Given the description of an element on the screen output the (x, y) to click on. 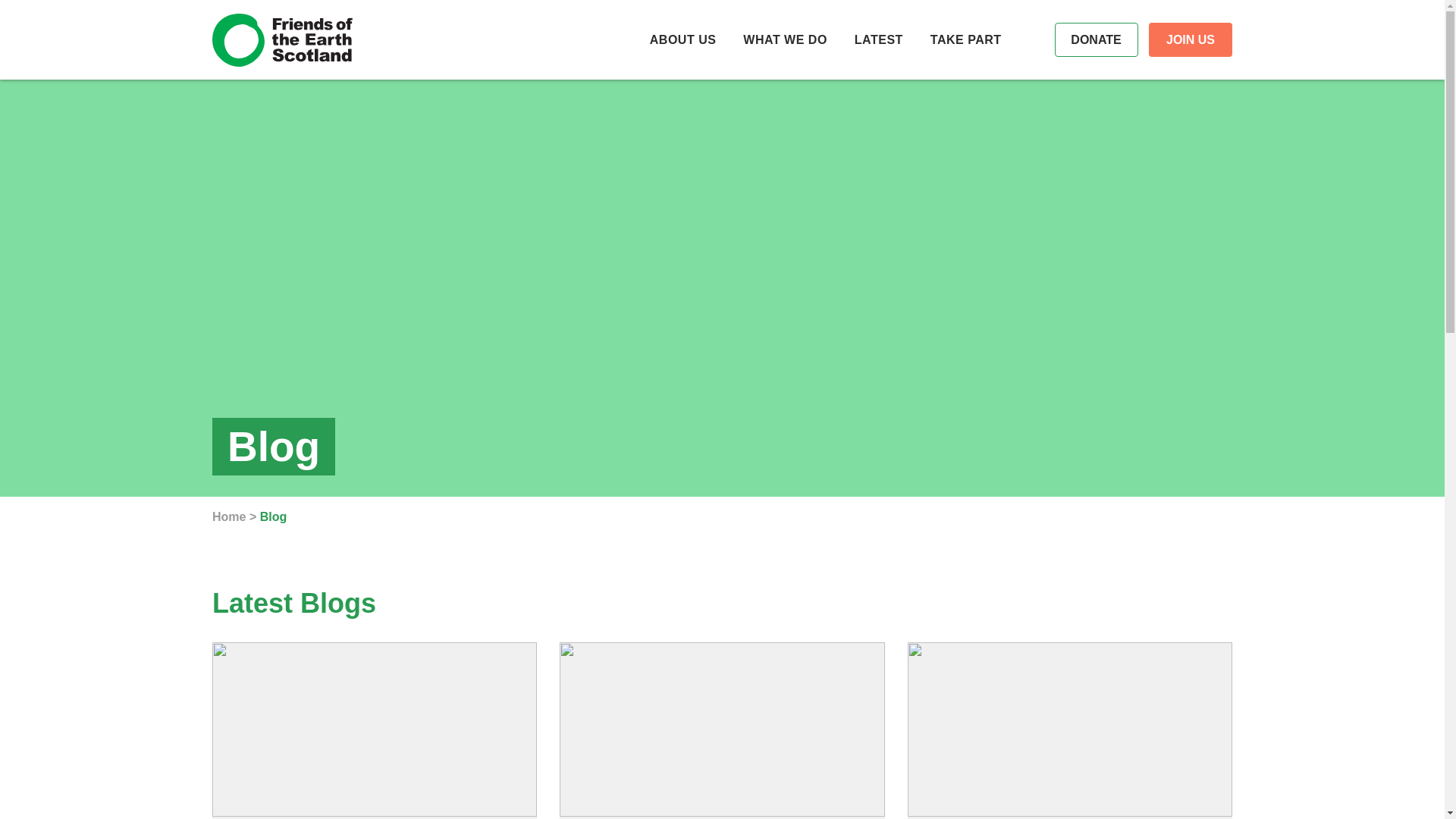
ABOUT US (682, 39)
TAKE PART (965, 39)
WHAT WE DO (784, 39)
LATEST (878, 39)
